Given the description of an element on the screen output the (x, y) to click on. 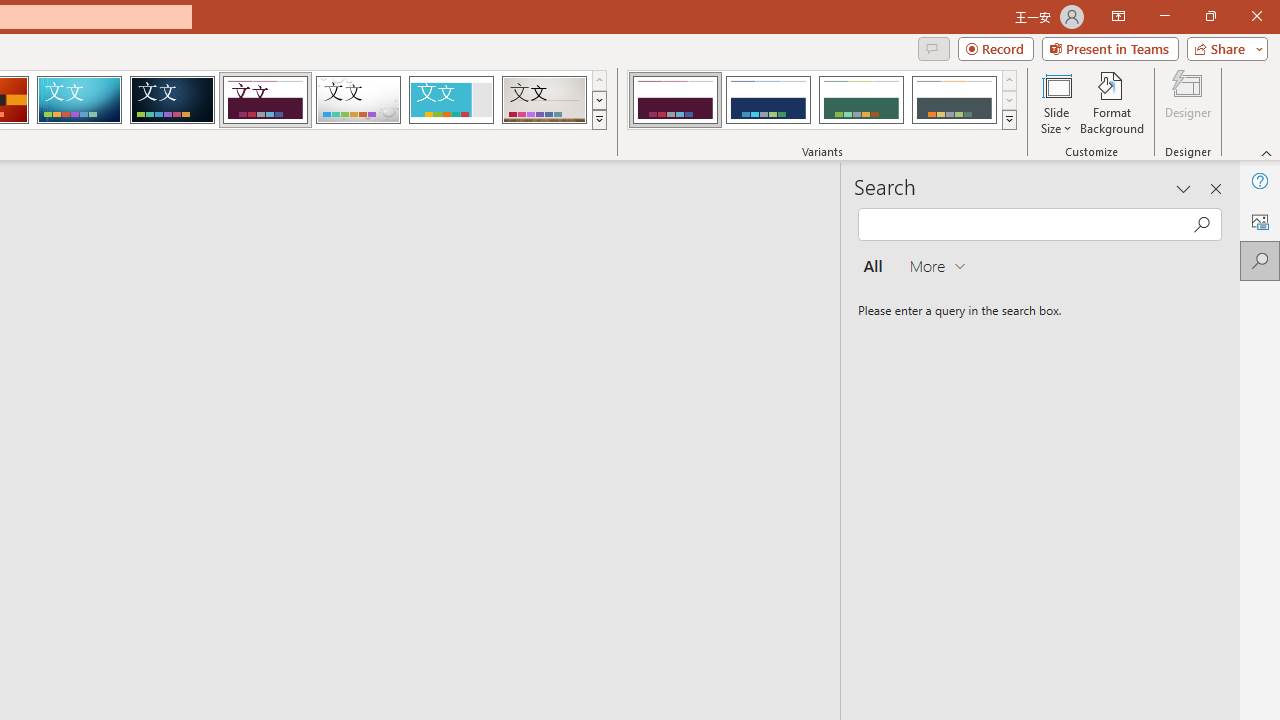
Dividend Variant 4 (953, 100)
Circuit (79, 100)
Frame (450, 100)
Variants (1009, 120)
Droplet (358, 100)
Dividend Variant 2 (768, 100)
